Given the description of an element on the screen output the (x, y) to click on. 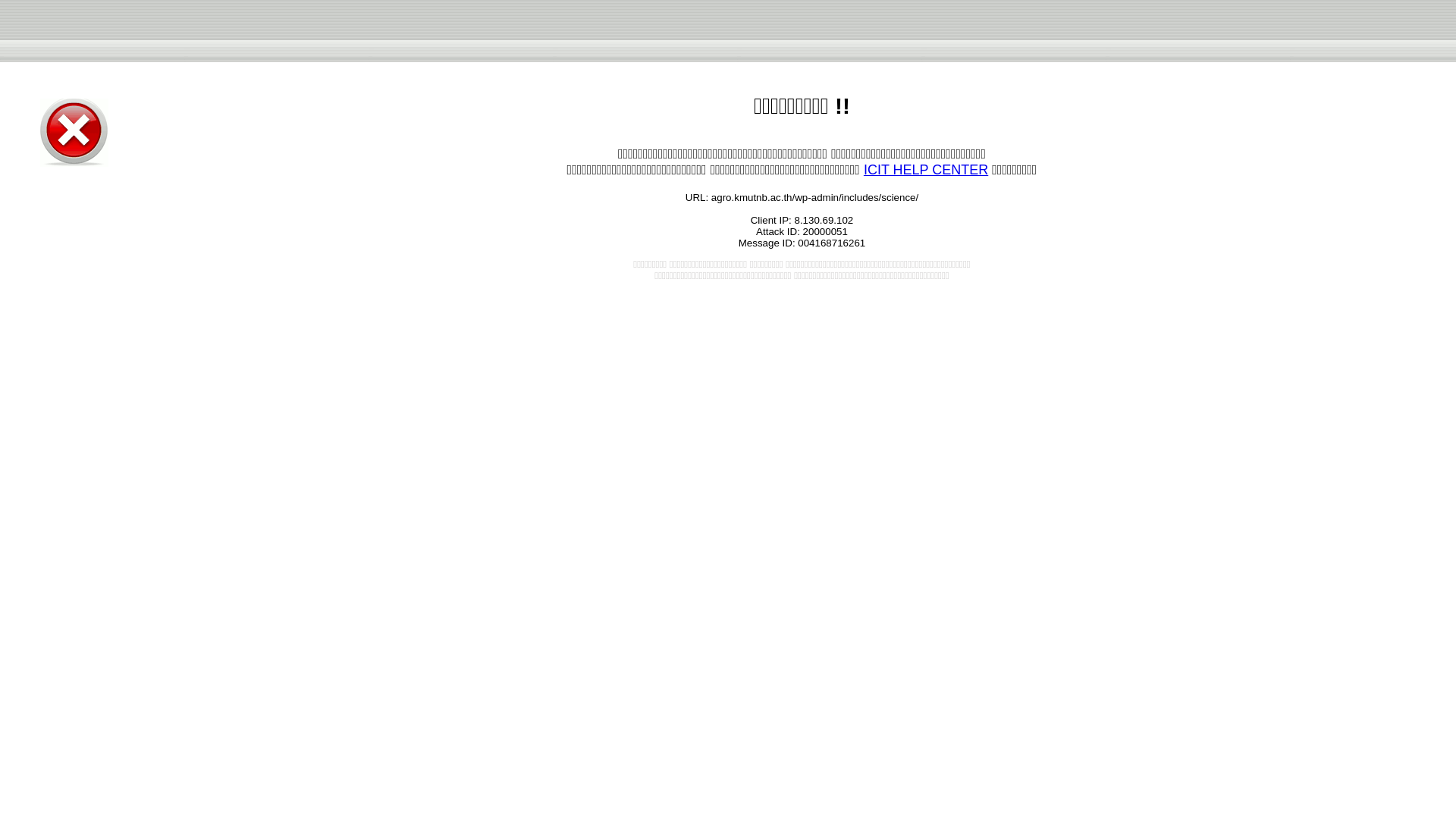
ICIT HELP CENTER (925, 169)
